Given the description of an element on the screen output the (x, y) to click on. 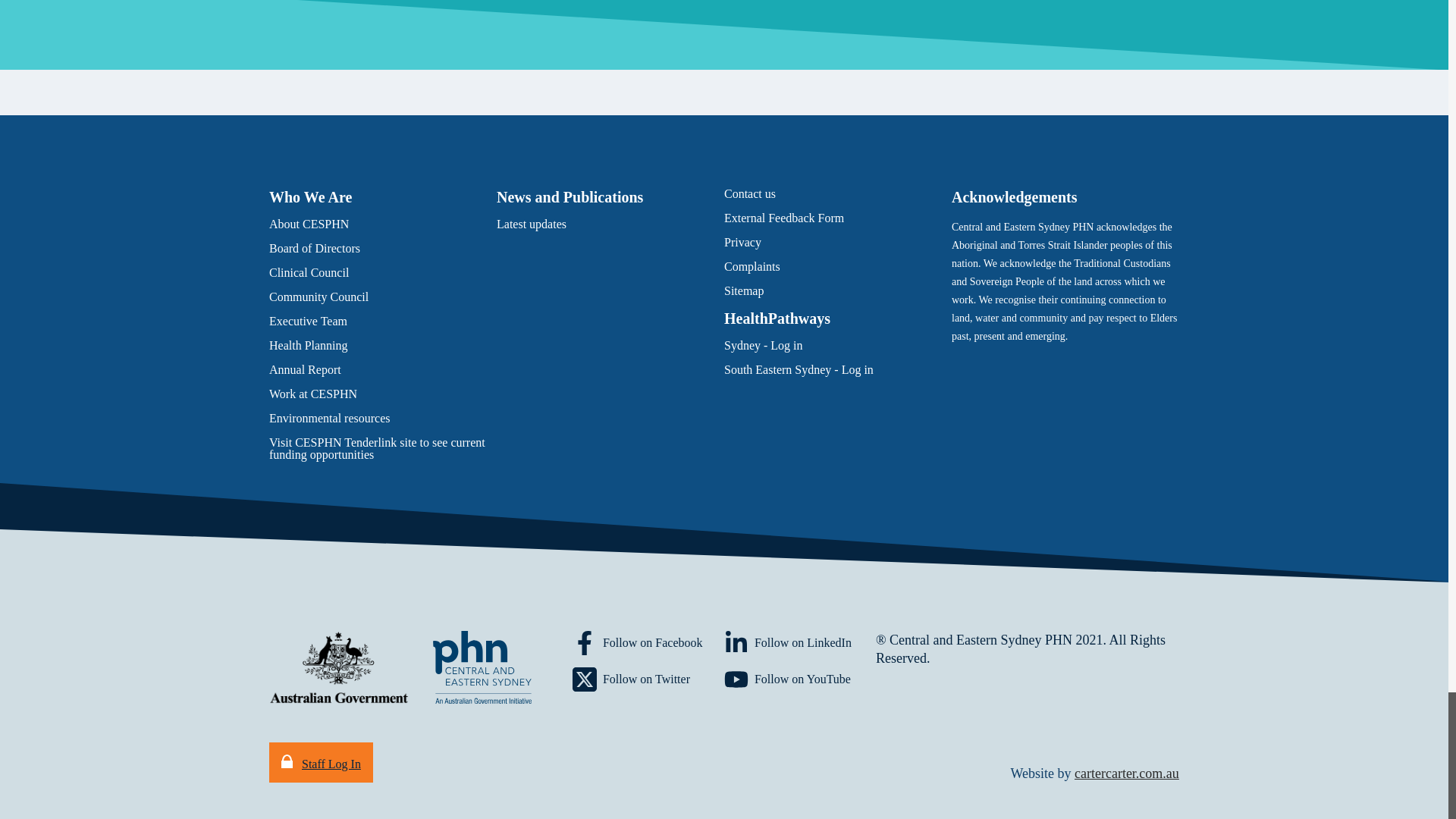
Follow on LinkedIn (799, 642)
Australian Government (339, 666)
Logo (481, 666)
Follow on Twitter (647, 679)
Follow on Facebook (647, 642)
Follow on YouTube (799, 679)
